Given the description of an element on the screen output the (x, y) to click on. 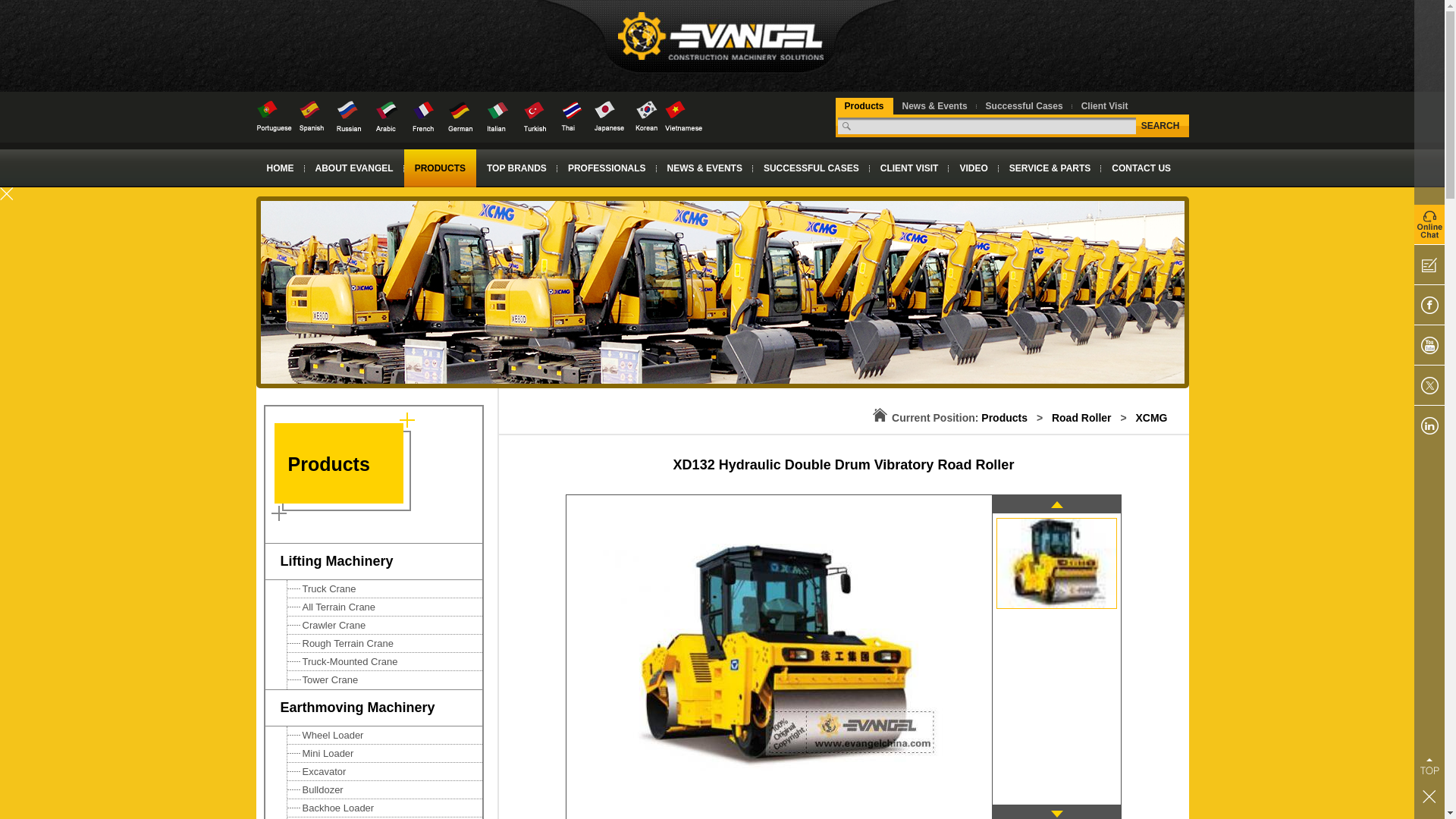
ABOUT EVANGEL (354, 168)
CLIENT VISIT (909, 168)
Russian (349, 115)
Mini Loader (383, 753)
Earthmoving Machinery (372, 707)
German (460, 115)
Excavator (383, 771)
Korean (646, 115)
Thai (572, 115)
French (423, 115)
All Terrain Crane (383, 607)
Japanese (608, 115)
HOME (280, 168)
PRODUCTS (440, 168)
Lifting Machinery (372, 561)
